Given the description of an element on the screen output the (x, y) to click on. 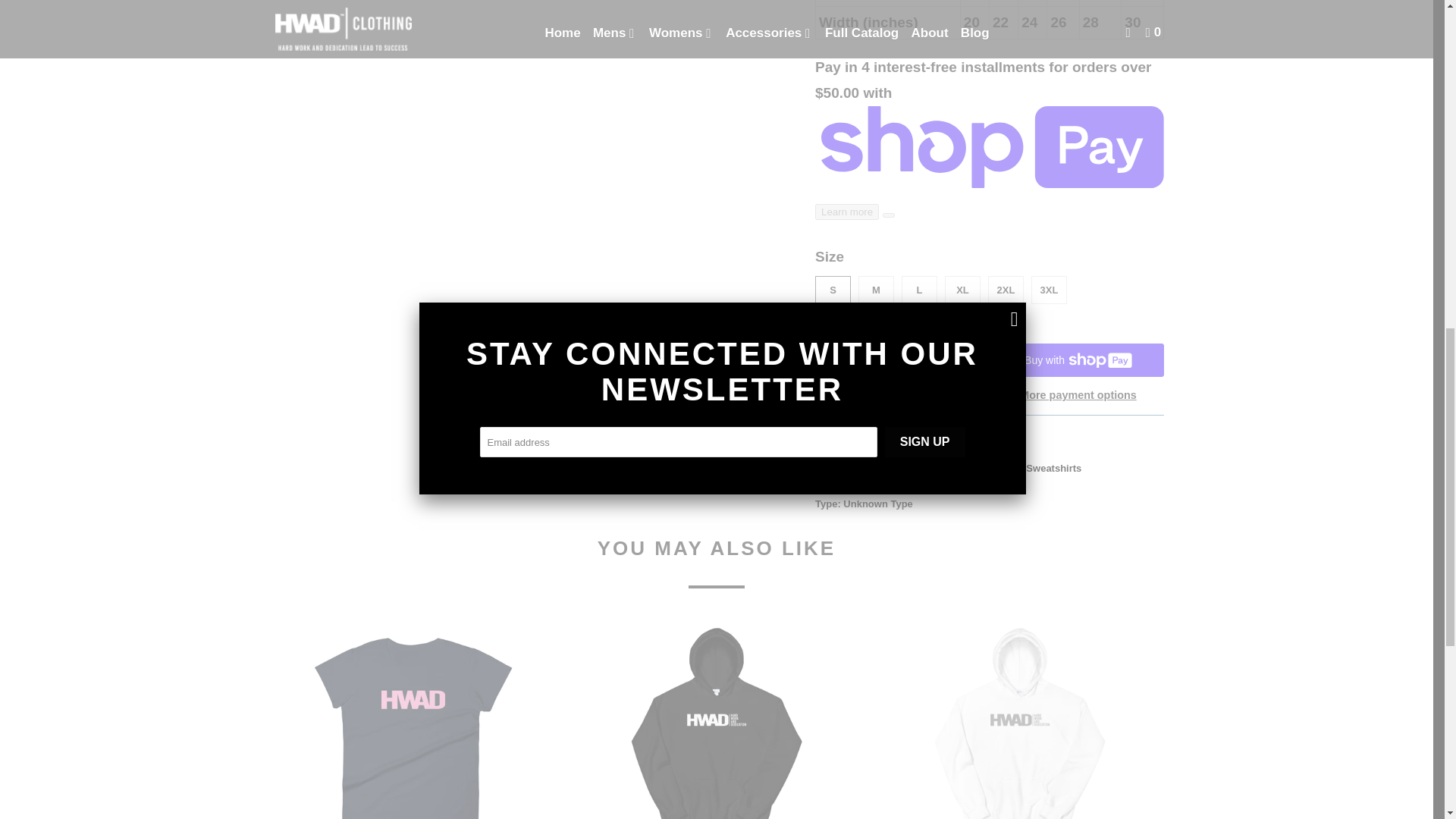
Womens Hoodies and Sweatshirts (1000, 468)
Womens (895, 468)
